Given the description of an element on the screen output the (x, y) to click on. 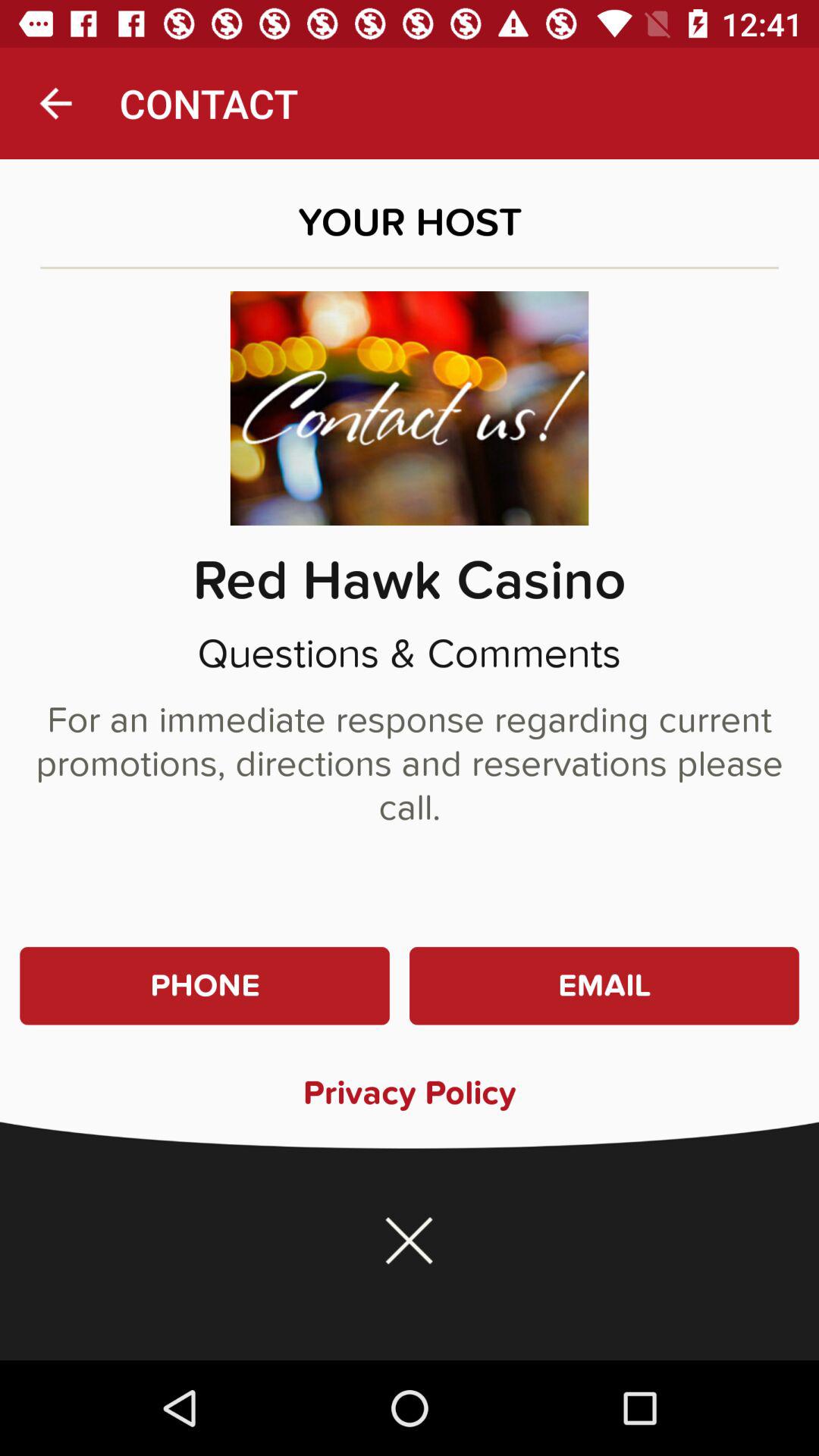
launch the item below for an immediate (604, 985)
